Given the description of an element on the screen output the (x, y) to click on. 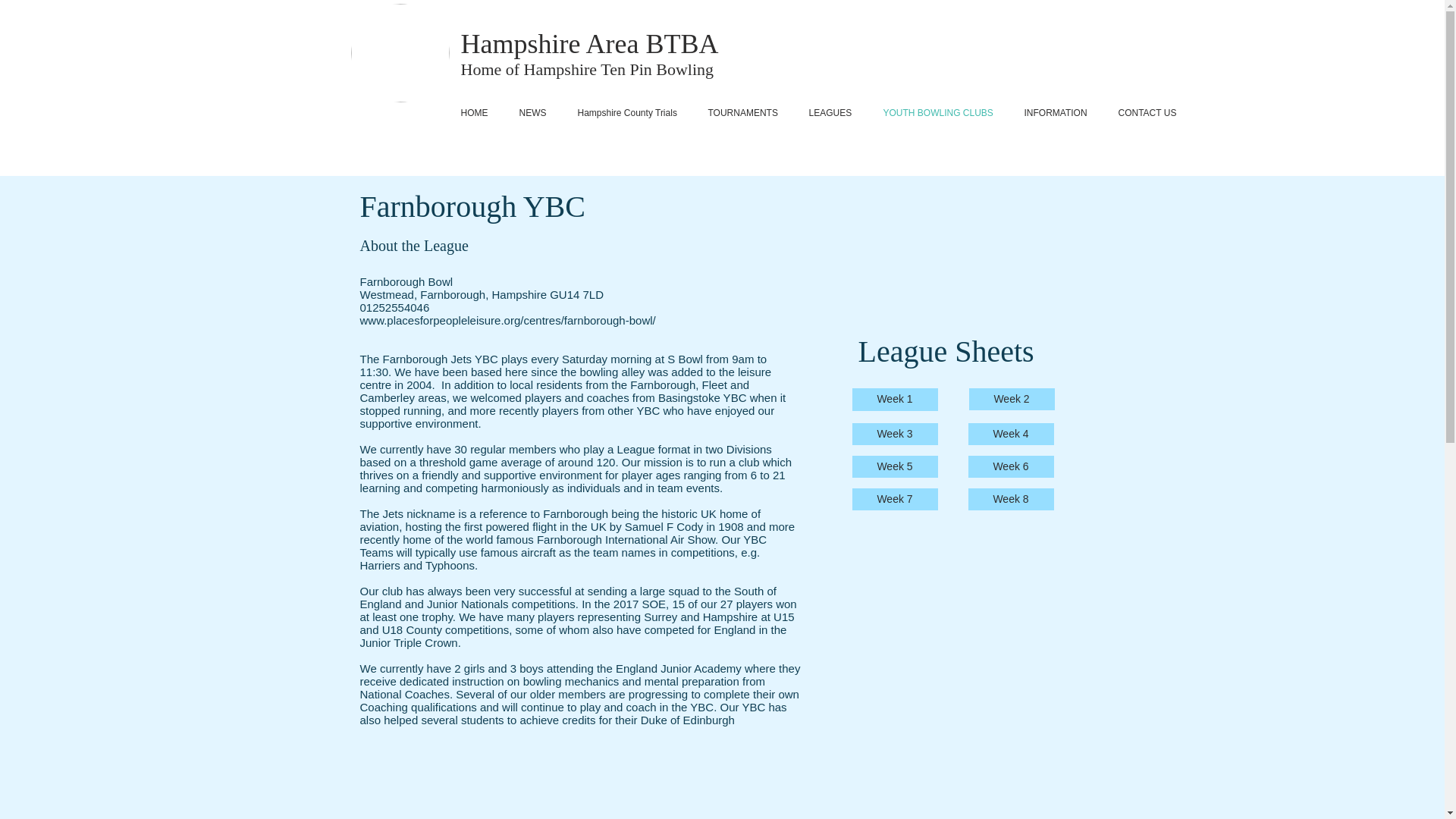
Home of Hampshire Ten Pin Bowling (587, 68)
Week 3 (894, 434)
Week 6 (1010, 466)
Hampshire County Trials (632, 112)
Week 2 (1011, 399)
LEAGUES (836, 112)
Week 5 (894, 466)
Week 8 (1010, 499)
Week 1 (894, 399)
Hampshire Area BTBA (590, 43)
